Given the description of an element on the screen output the (x, y) to click on. 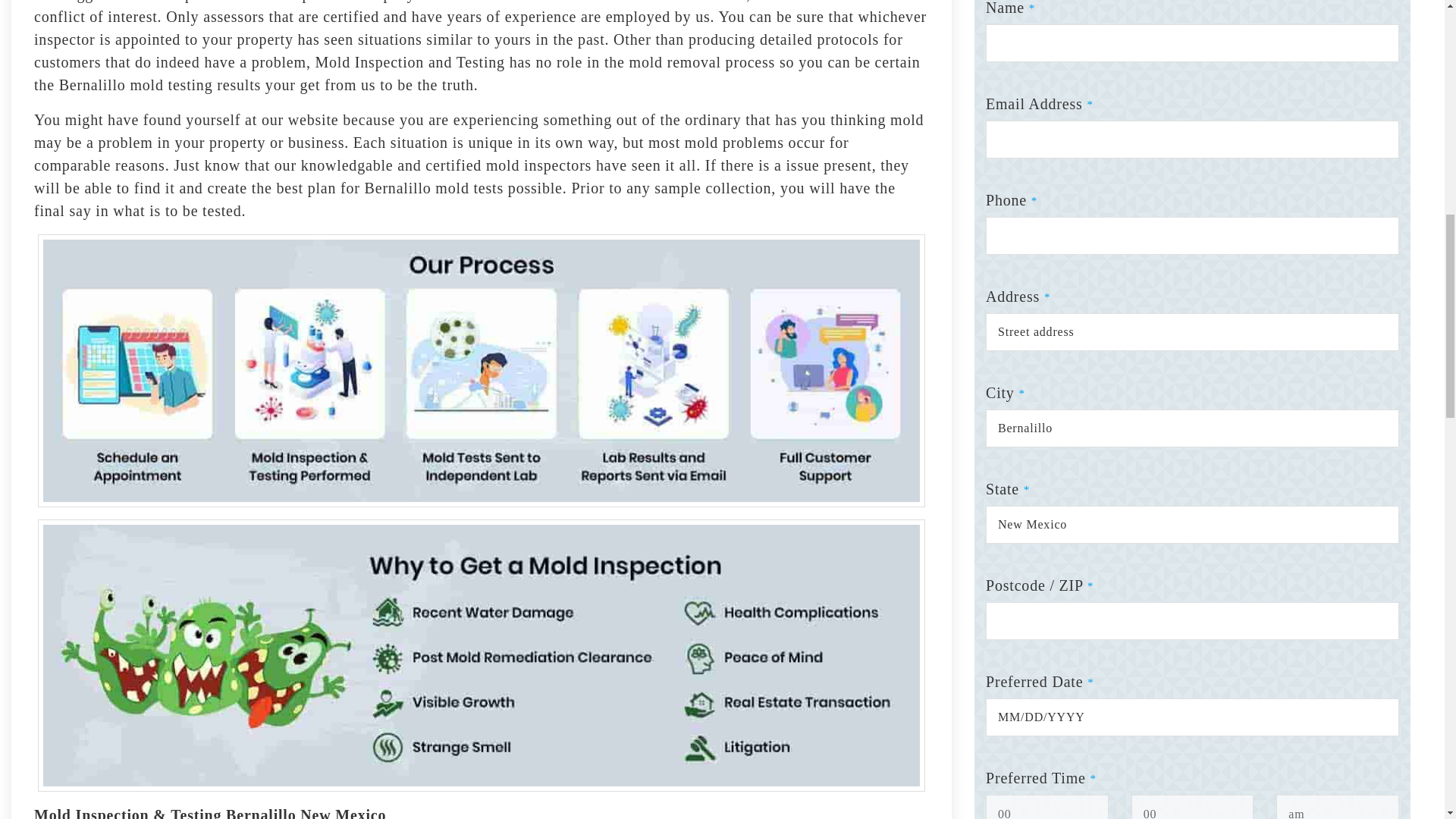
New Mexico (1192, 524)
Bernalillo (1192, 428)
